Given the description of an element on the screen output the (x, y) to click on. 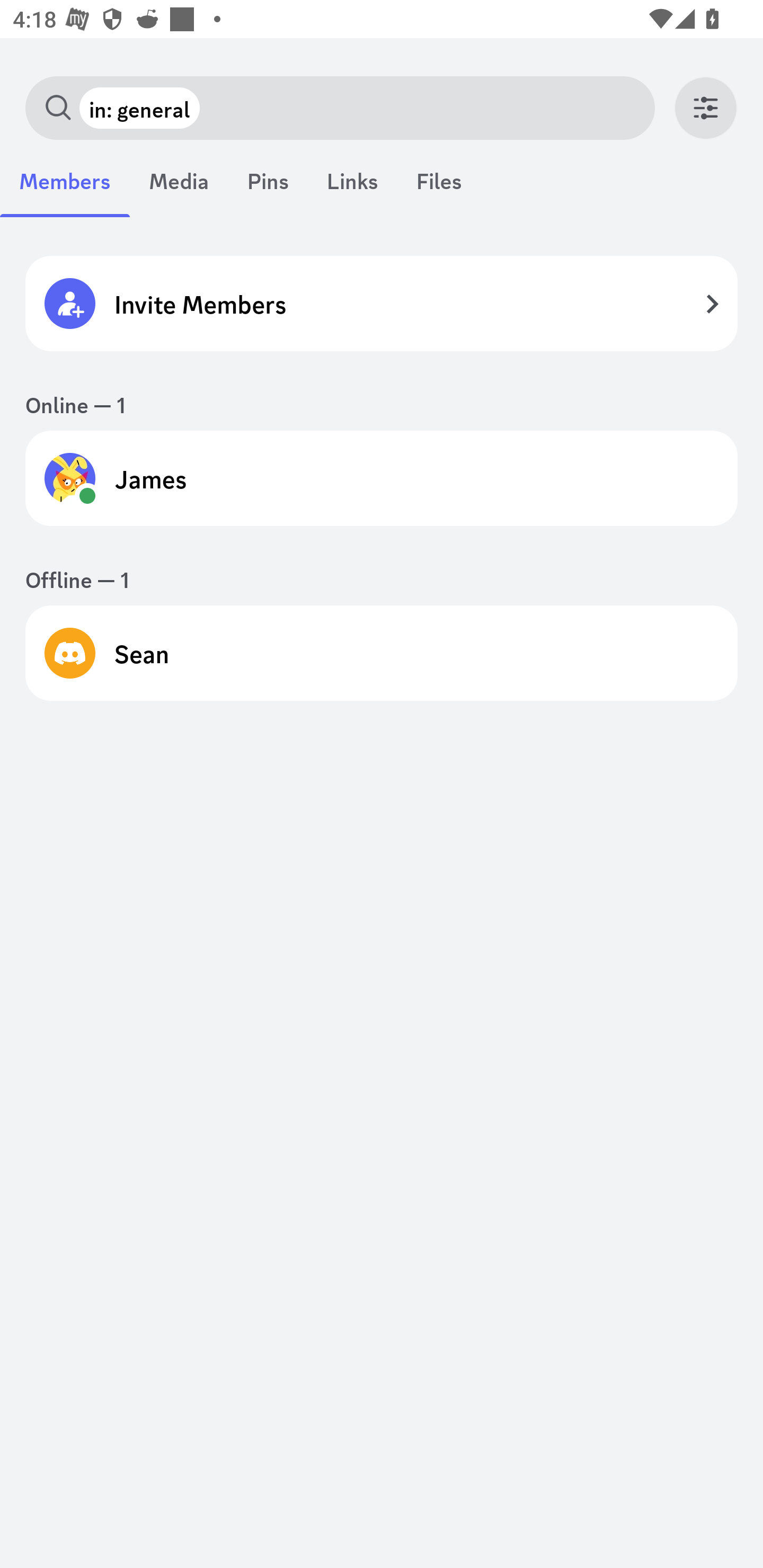
Search Filters (705, 107)
in: general, remove in: general (139, 107)
Members (64, 190)
Media (178, 190)
Pins (267, 190)
Links (352, 190)
Files (439, 190)
Invite Members (381, 303)
James 0 (381, 478)
Sean (381, 652)
